Given the description of an element on the screen output the (x, y) to click on. 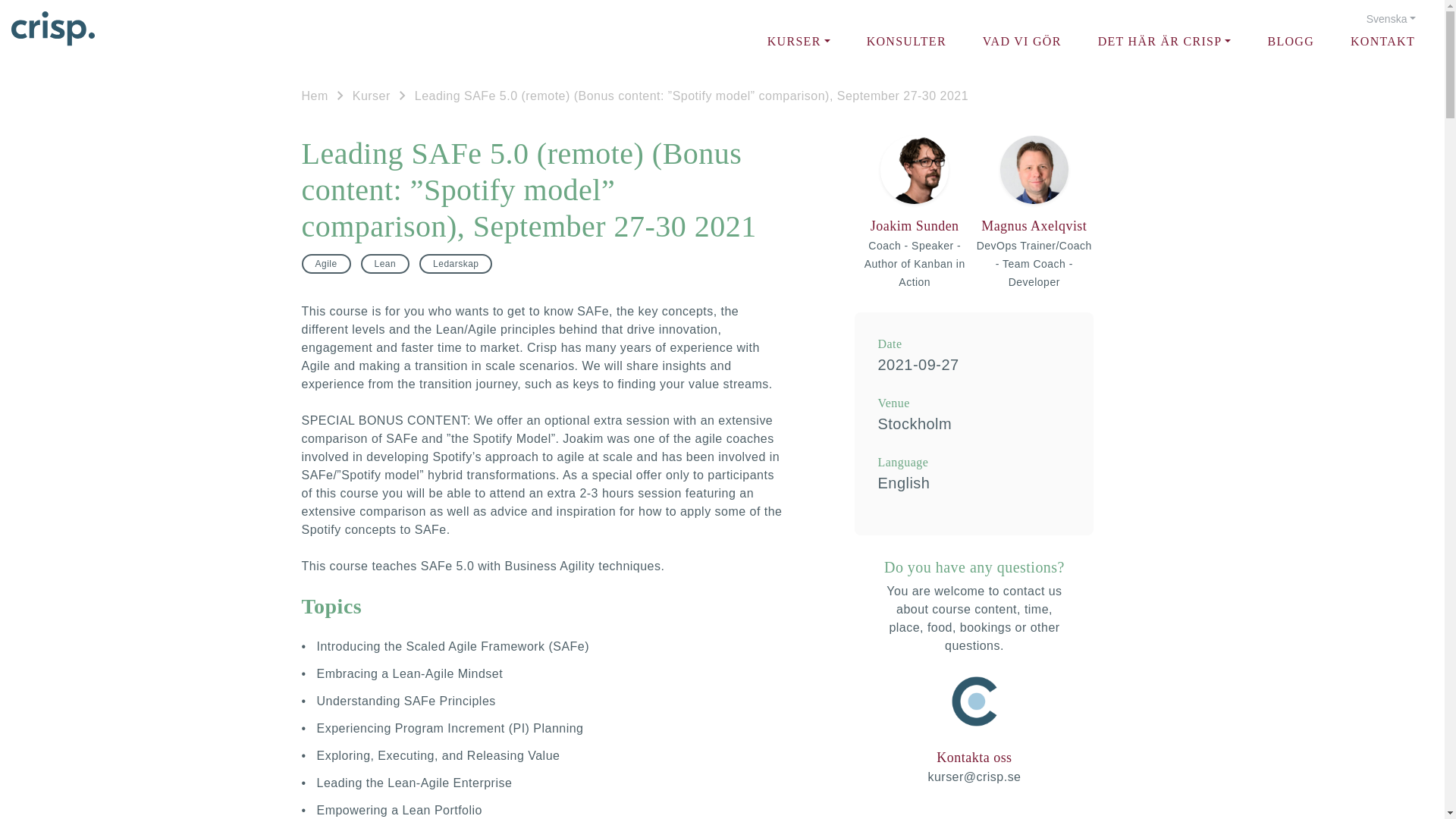
Svenska (1390, 18)
Kurser (798, 41)
Crisp (52, 27)
KONSULTER (906, 41)
KURSER (798, 41)
Kontakt (1383, 41)
Kontakta oss (973, 757)
BLOGG (1290, 41)
Joakim Sunden (914, 225)
Kurser (371, 95)
KONTAKT (1383, 41)
Hem (315, 95)
Konsulter (906, 41)
Crisp (52, 28)
Magnus Axelqvist (1033, 225)
